Given the description of an element on the screen output the (x, y) to click on. 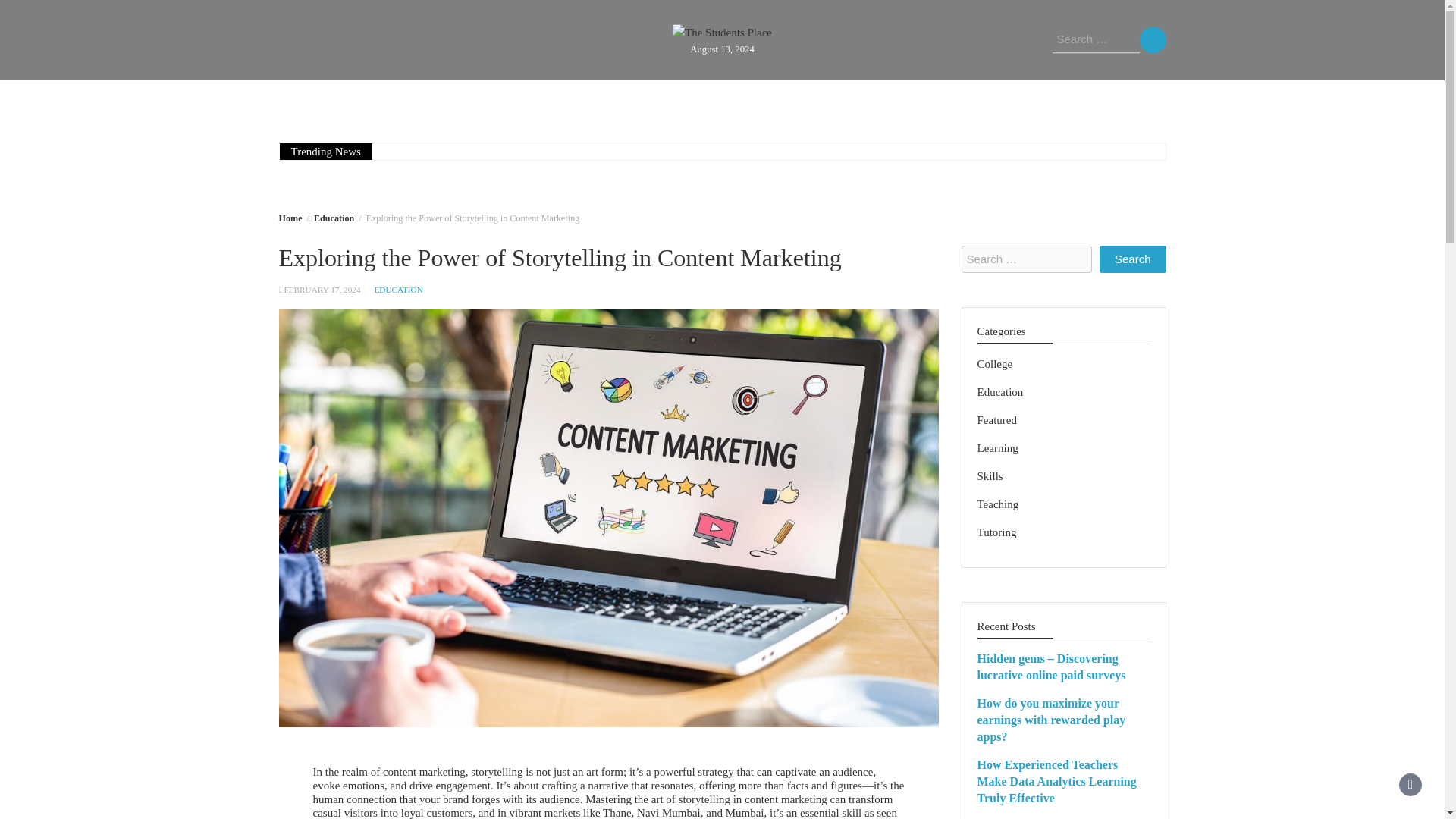
College (734, 100)
Search (1152, 39)
Home (290, 217)
Teaching (659, 100)
Search (1132, 259)
FEBRUARY 17, 2024 (321, 289)
Search (1132, 259)
Search (1152, 39)
Search for: (1096, 40)
Search for: (1026, 259)
